Given the description of an element on the screen output the (x, y) to click on. 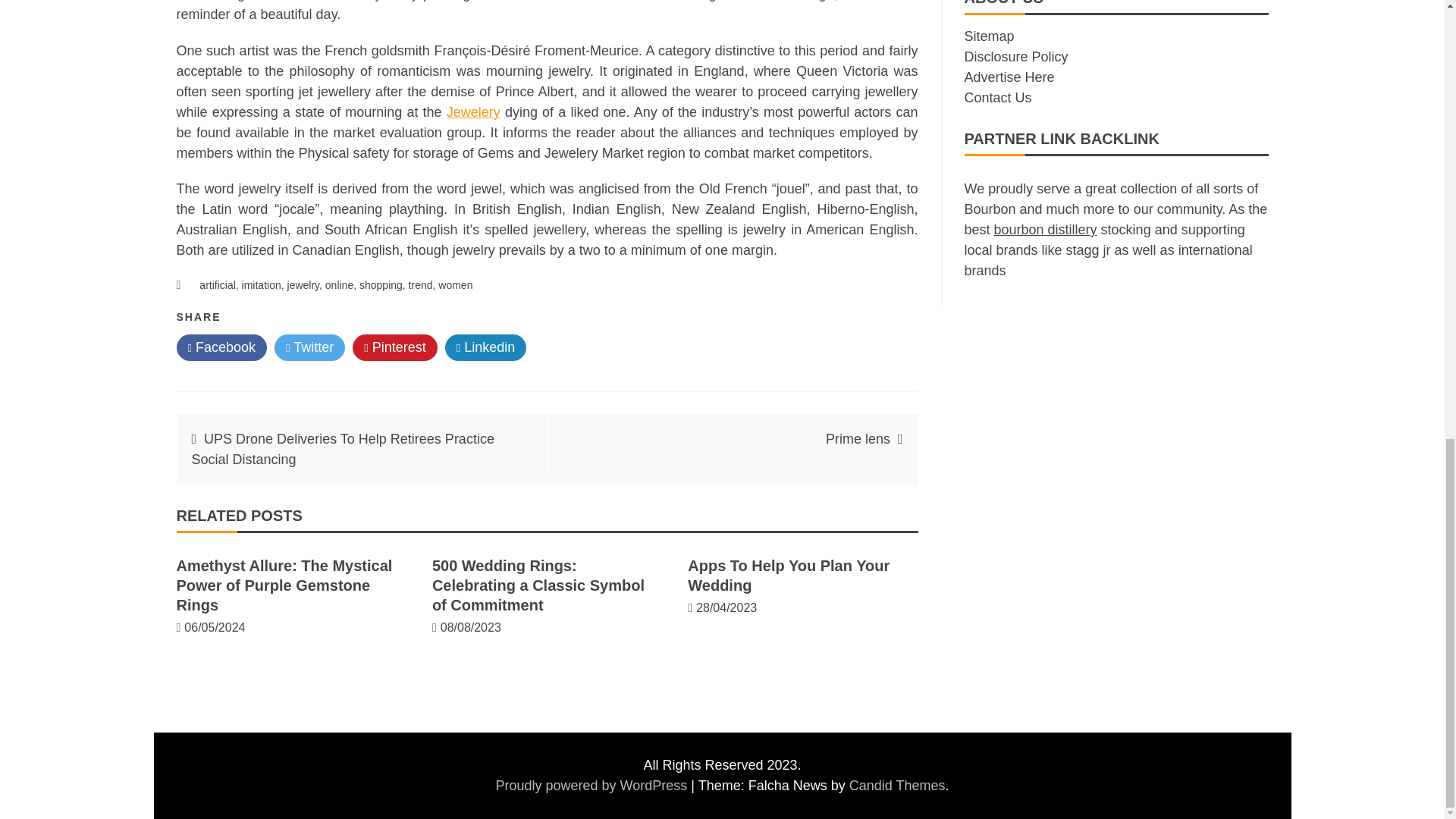
artificial (216, 285)
trend (420, 285)
Apps To Help You Plan Your Wedding (788, 575)
Linkedin (486, 347)
Prime lens (857, 438)
shopping (381, 285)
online (338, 285)
Jewelery (473, 111)
Amethyst Allure: The Mystical Power of Purple Gemstone Rings (283, 585)
Facebook (221, 347)
imitation (261, 285)
Pinterest (395, 347)
women (454, 285)
